Given the description of an element on the screen output the (x, y) to click on. 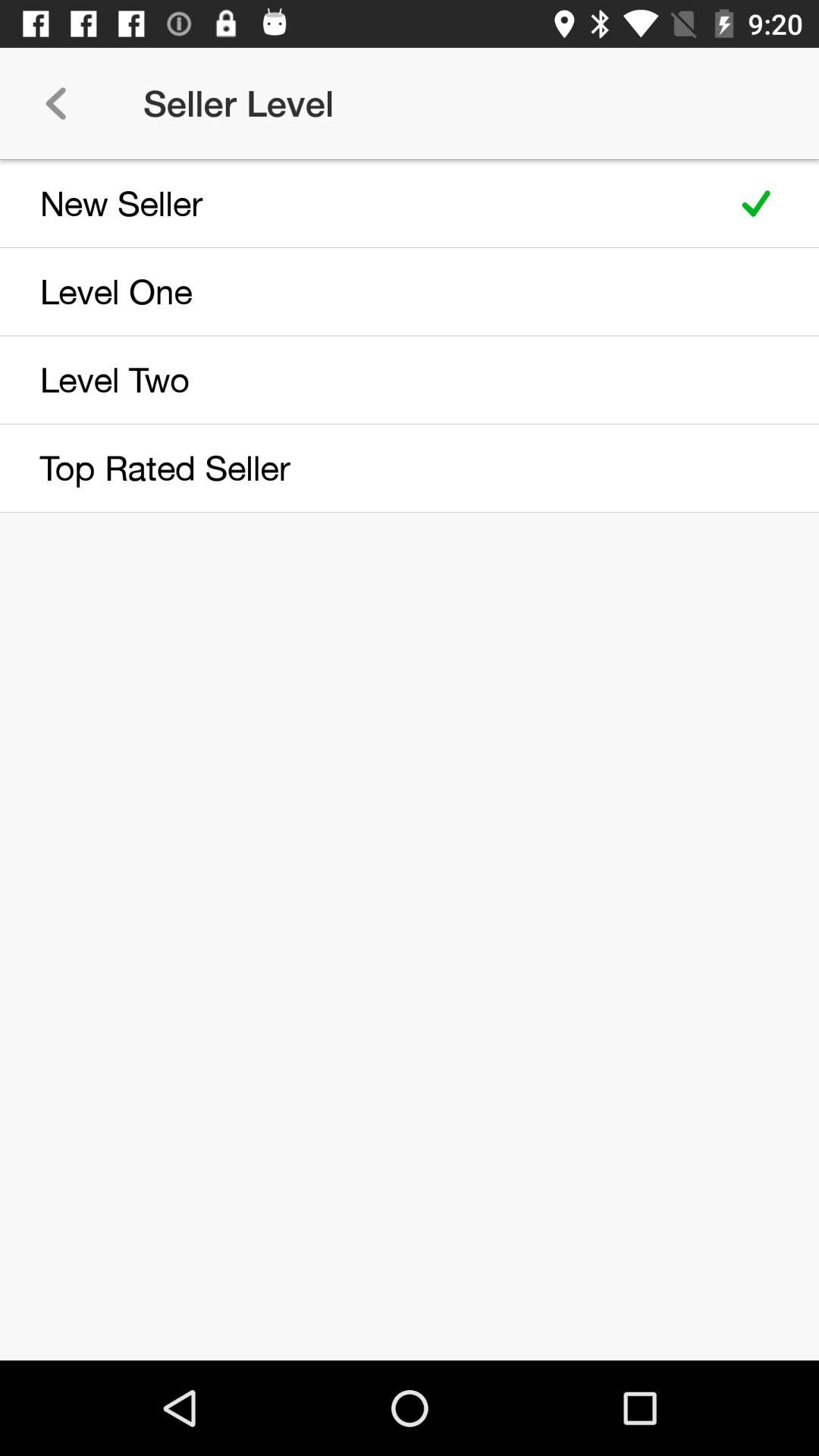
flip until the top rated seller (358, 467)
